Given the description of an element on the screen output the (x, y) to click on. 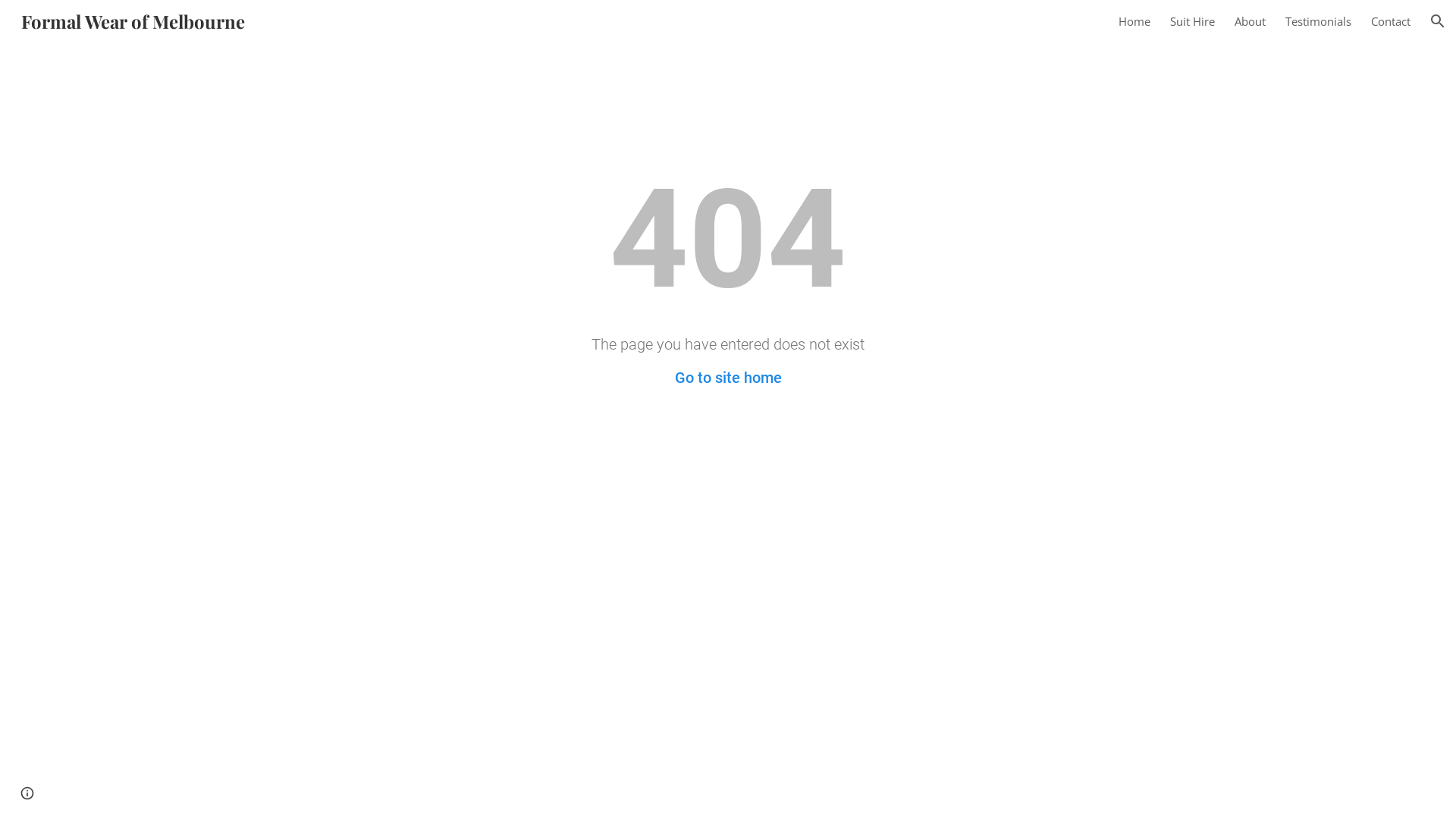
Suit Hire Element type: text (1192, 20)
Contact Element type: text (1390, 20)
Go to site home Element type: text (727, 377)
Formal Wear of Melbourne Element type: text (133, 18)
Home Element type: text (1134, 20)
Testimonials Element type: text (1318, 20)
About Element type: text (1249, 20)
